Given the description of an element on the screen output the (x, y) to click on. 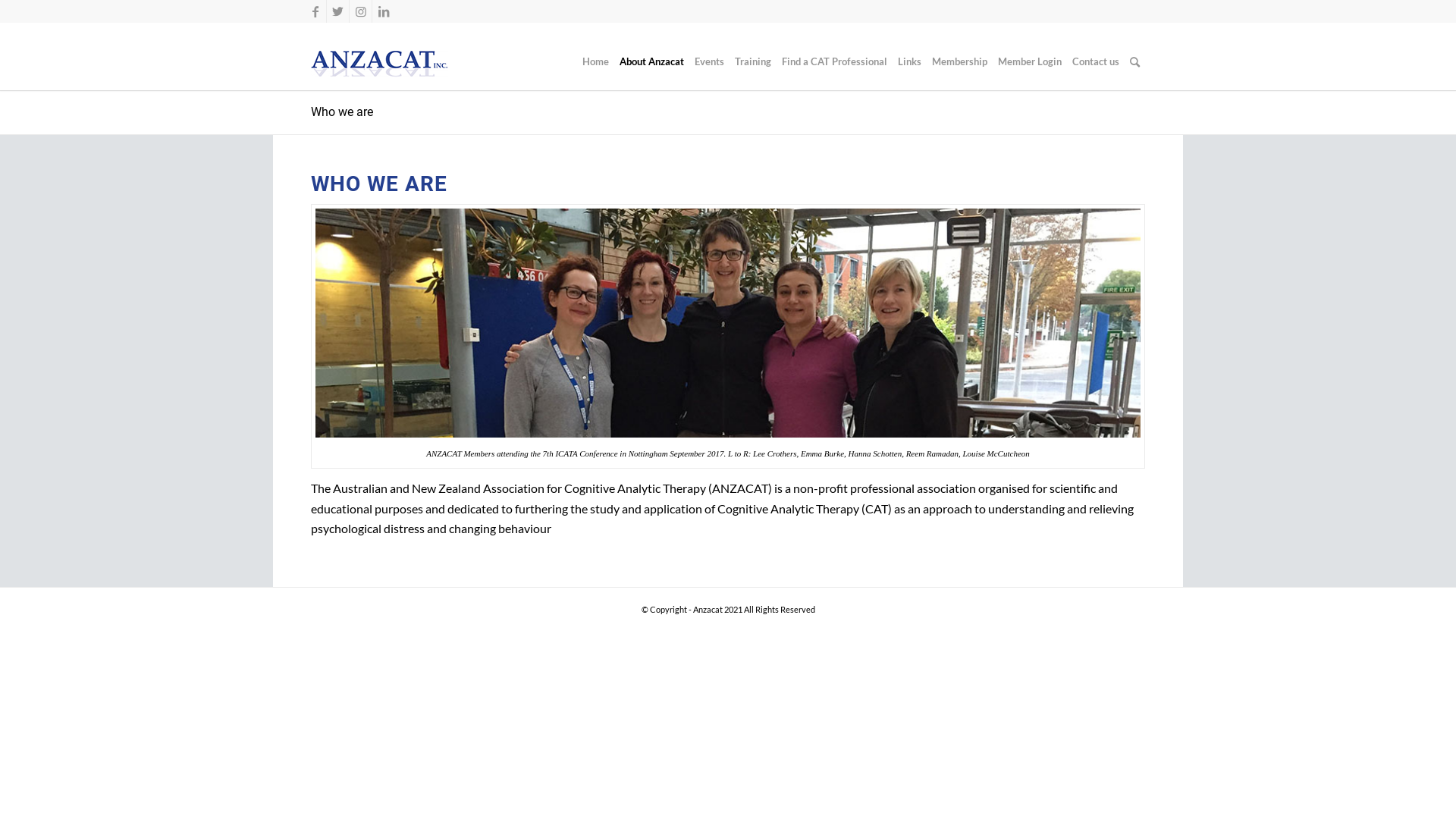
LinkedIn Element type: hover (383, 11)
Contact us Element type: text (1095, 61)
Membership Element type: text (959, 61)
Training Element type: text (752, 61)
Who we are Element type: text (341, 111)
Events Element type: text (709, 61)
Links Element type: text (909, 61)
About Anzacat Element type: text (651, 61)
Home Element type: text (595, 61)
Find a CAT Professional Element type: text (834, 61)
Twitter Element type: hover (337, 11)
Instagram Element type: hover (360, 11)
Member Login Element type: text (1029, 61)
Anzacat_logo Element type: hover (379, 63)
Facebook Element type: hover (315, 11)
